Given the description of an element on the screen output the (x, y) to click on. 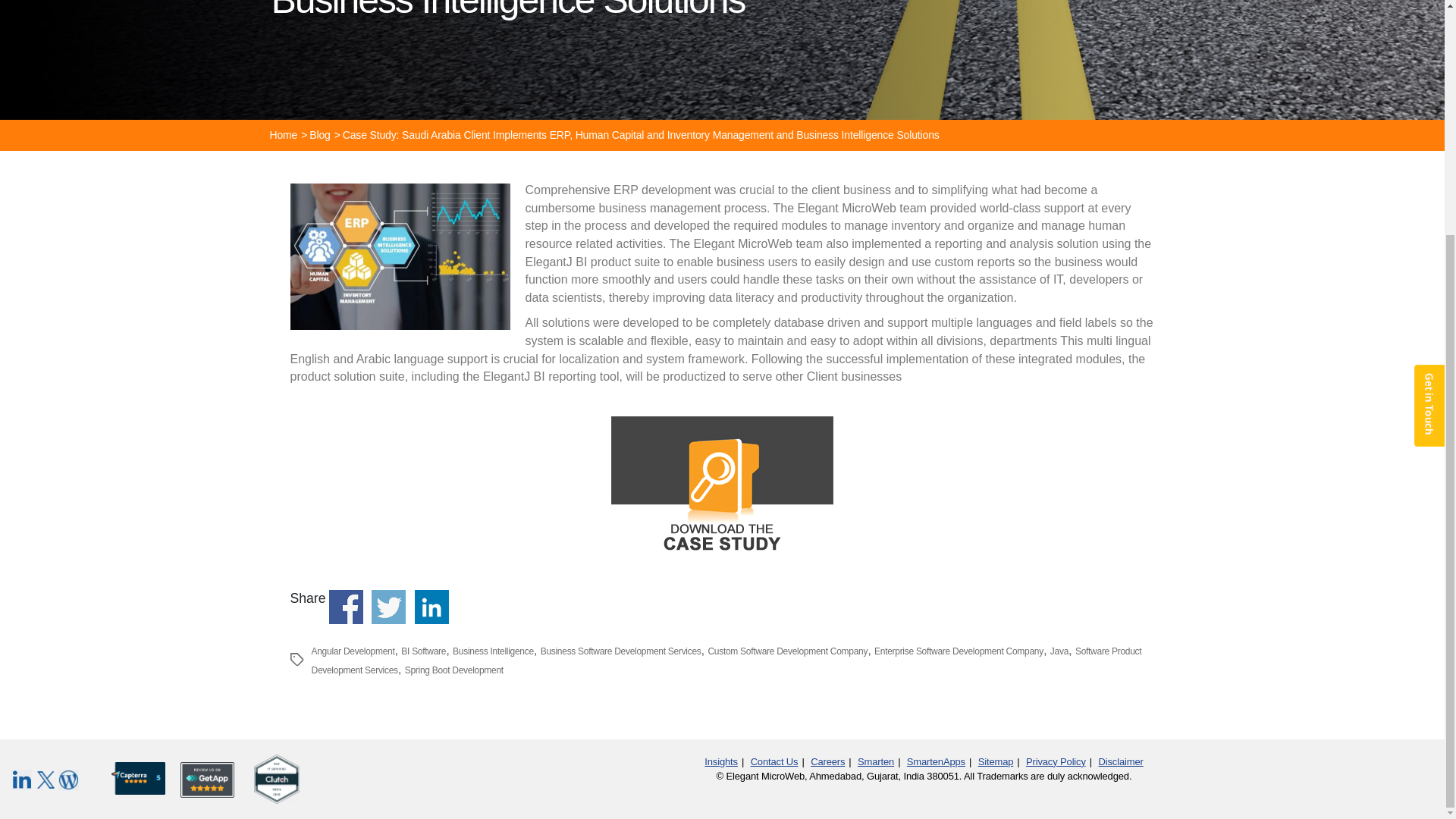
Go to the Blog category archives. (320, 134)
LinkedIn (22, 779)
Augmented Analytics and Advanced Analytics Smarten Blog (68, 780)
Read Smarten Reviews on GetApp (275, 778)
Read Smarten Reviews on GetApp (207, 775)
Twitter (46, 780)
